Given the description of an element on the screen output the (x, y) to click on. 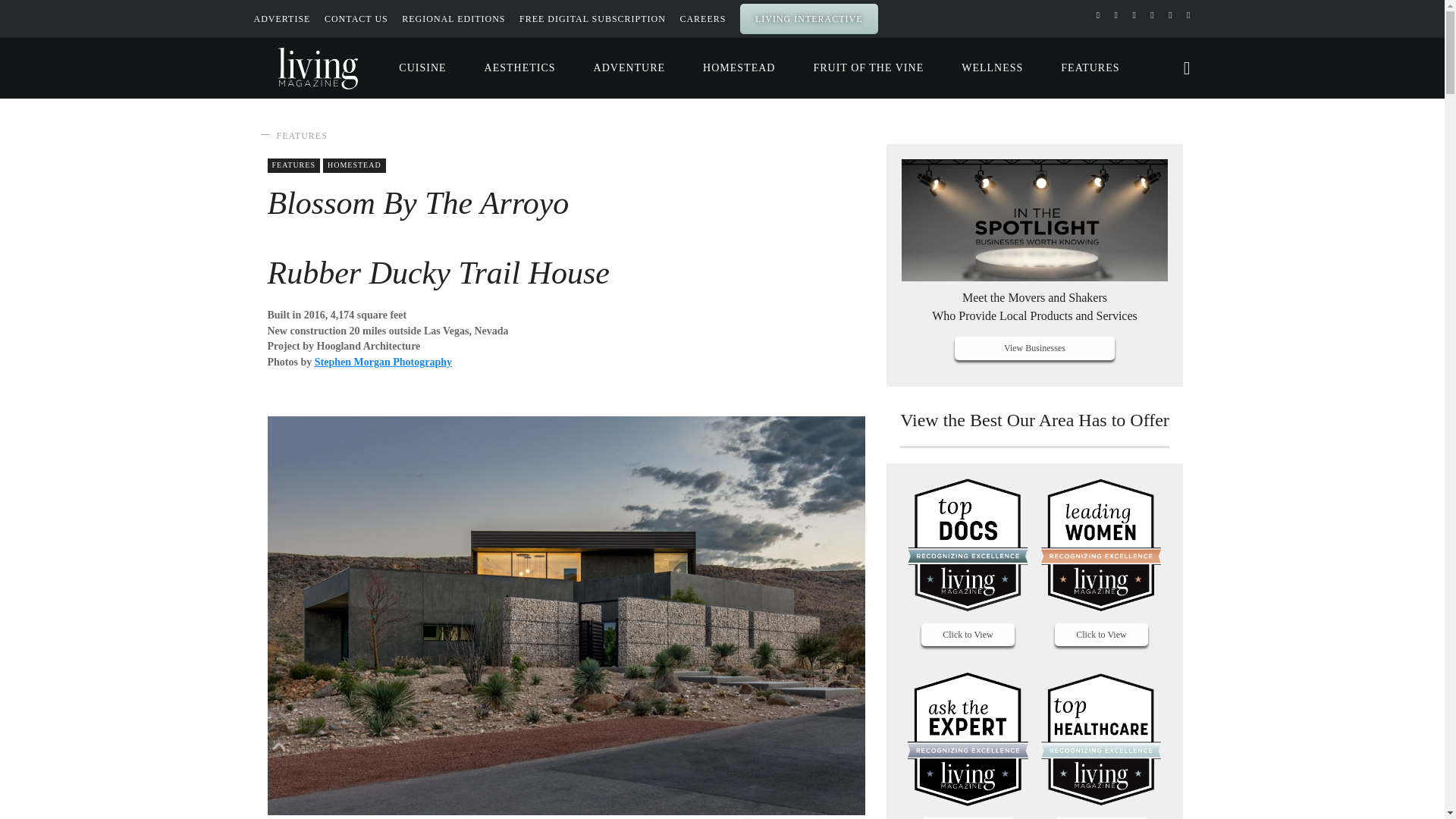
HOMESTEAD (738, 68)
CONTACT US (356, 19)
ADVERTISE (281, 19)
View all posts in 384 (292, 165)
CAREERS (702, 19)
CUISINE (422, 68)
FRUIT OF THE VINE (868, 68)
View all posts in 54 (354, 165)
ADVENTURE (629, 68)
FEATURES (1090, 68)
REGIONAL EDITIONS (453, 19)
FREE DIGITAL SUBSCRIPTION (592, 19)
FEATURES (301, 135)
AESTHETICS (520, 68)
WELLNESS (991, 68)
